Given the description of an element on the screen output the (x, y) to click on. 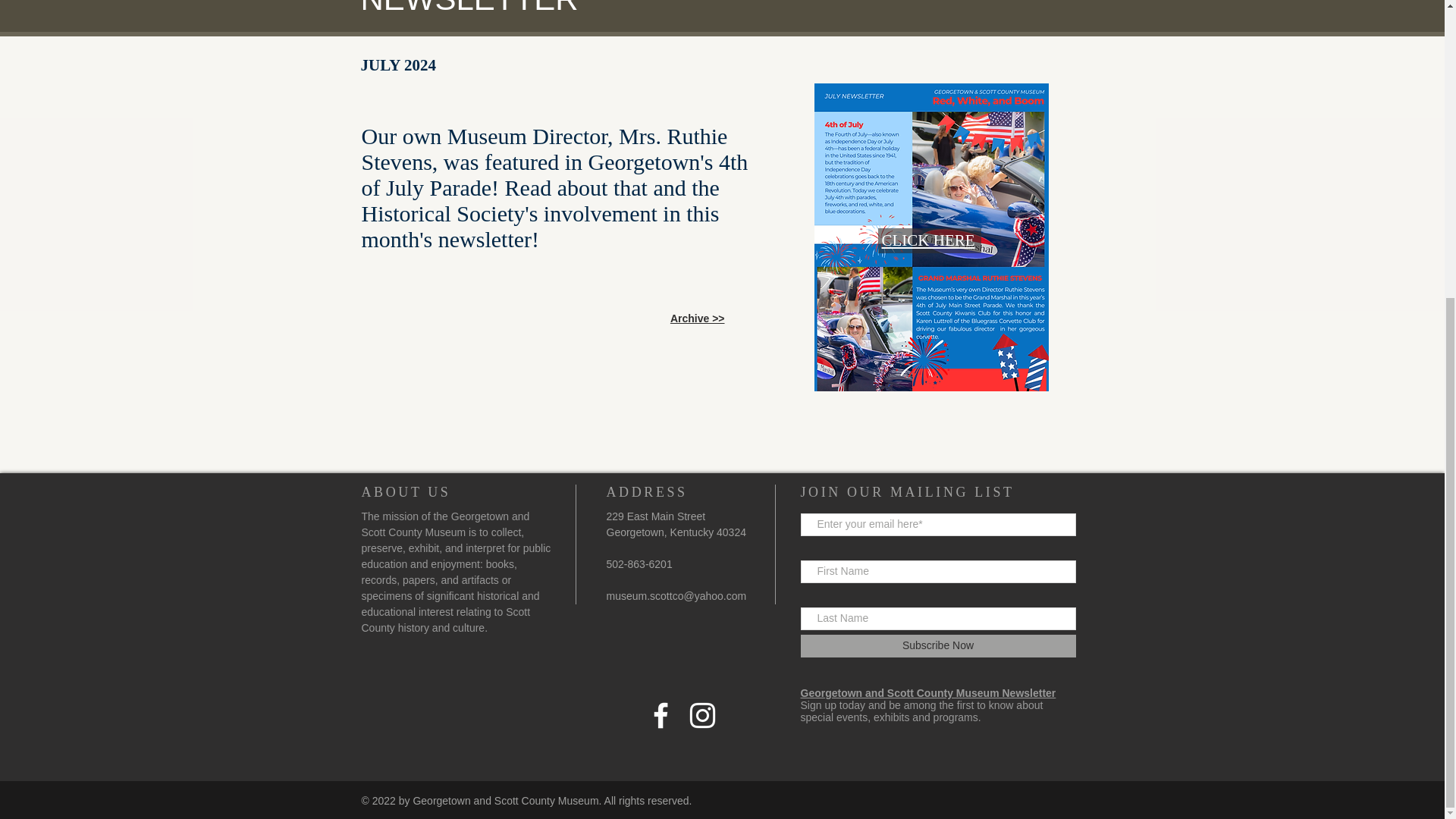
Subscribe Now (937, 645)
CLICK HERE (927, 239)
Georgetown and Scott County Museum Newsletter (928, 693)
